Given the description of an element on the screen output the (x, y) to click on. 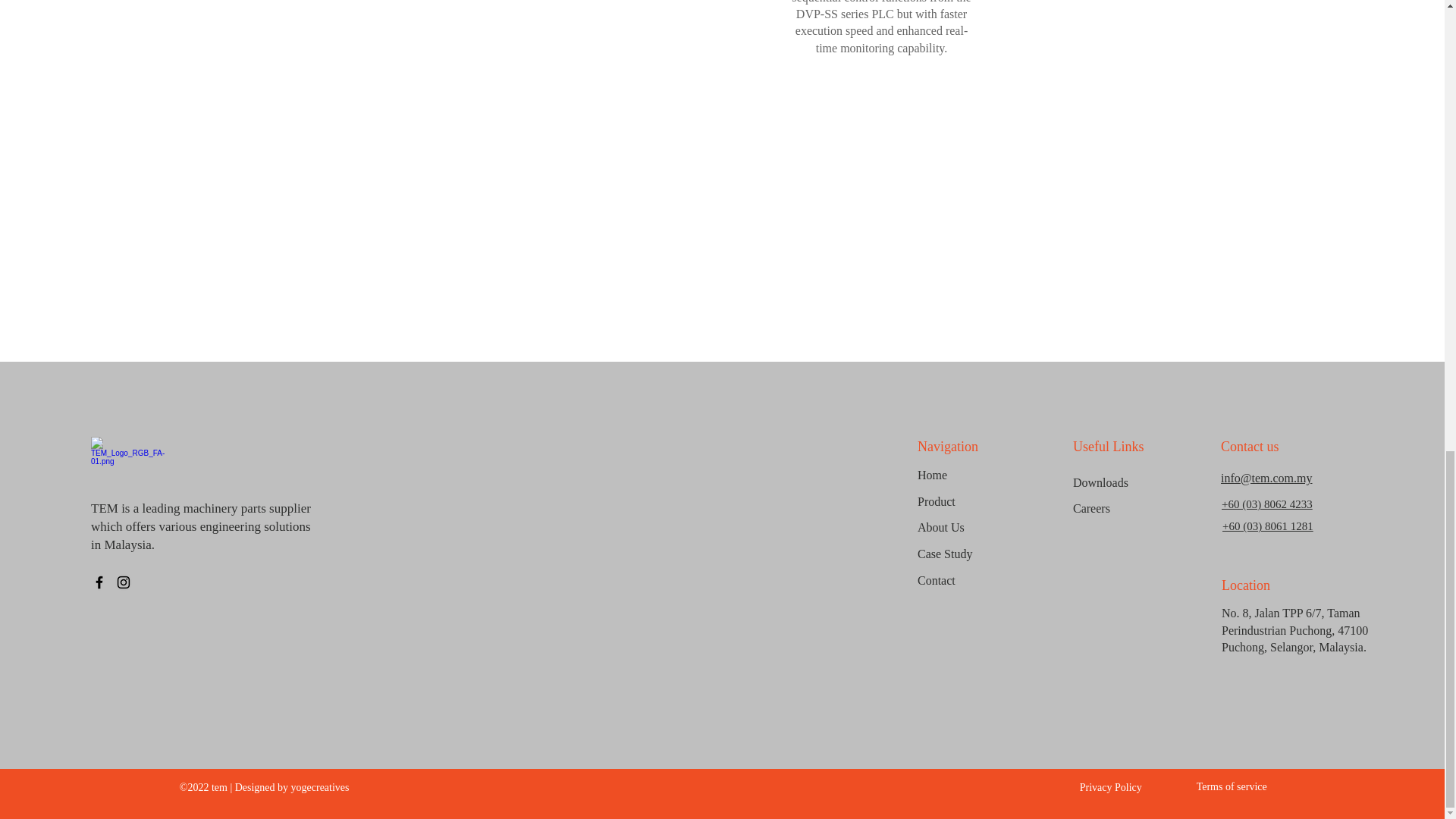
Downloads (1126, 483)
Contact (971, 581)
Home (971, 475)
About Us (971, 528)
Careers (1126, 509)
Product (971, 501)
Case Study (971, 554)
Terms of service (1222, 786)
Privacy Policy (1096, 786)
